Given the description of an element on the screen output the (x, y) to click on. 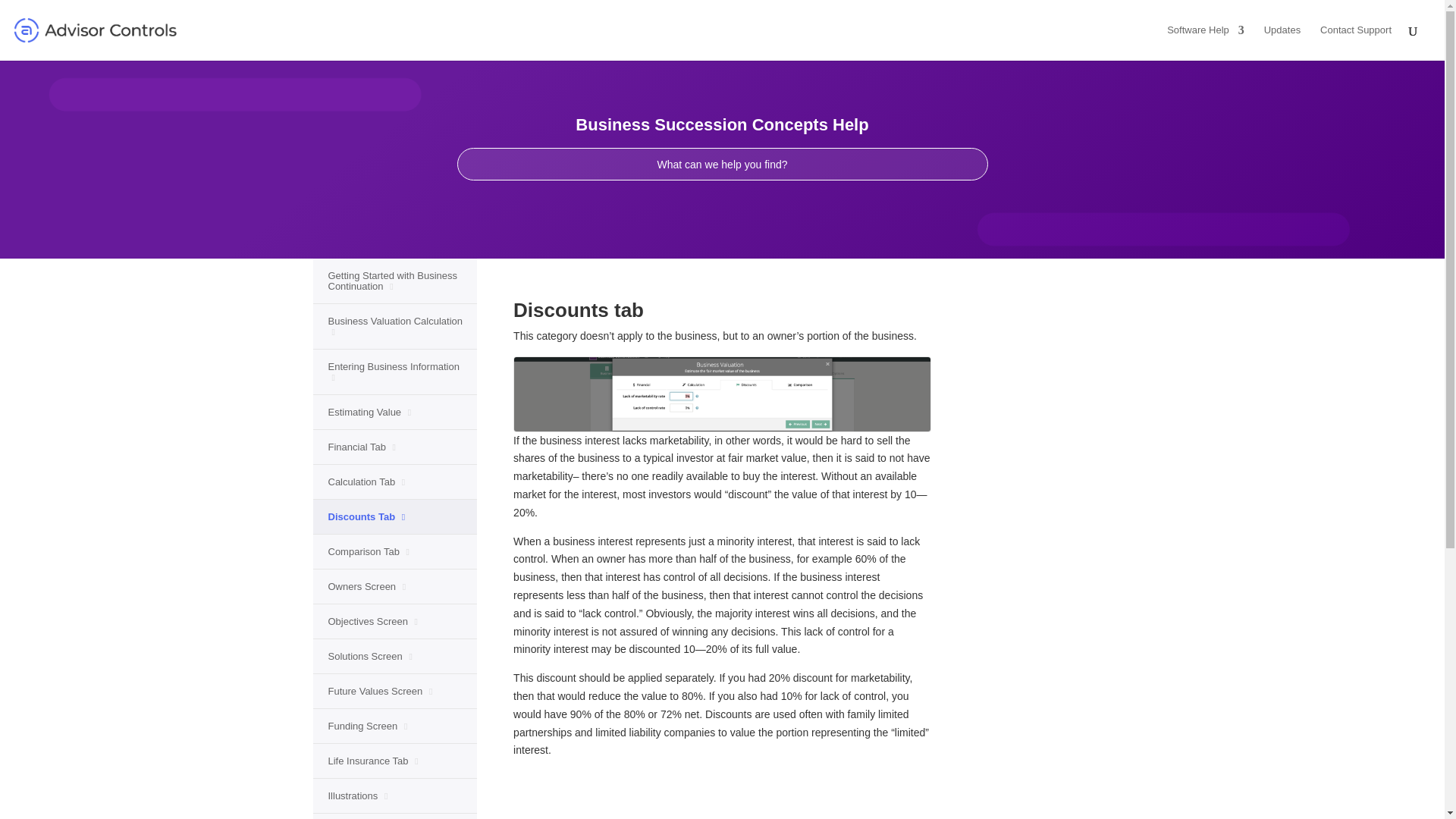
Entering Business Information (395, 375)
Owners Screen (366, 589)
Updates (1281, 42)
Comparison Tab (368, 555)
Calculation Tab (365, 484)
Business Valuation Calculation (395, 329)
Software Help (1205, 42)
Future Values Screen (379, 694)
Getting Started with Business Continuation (395, 284)
Estimating Value (368, 415)
